Given the description of an element on the screen output the (x, y) to click on. 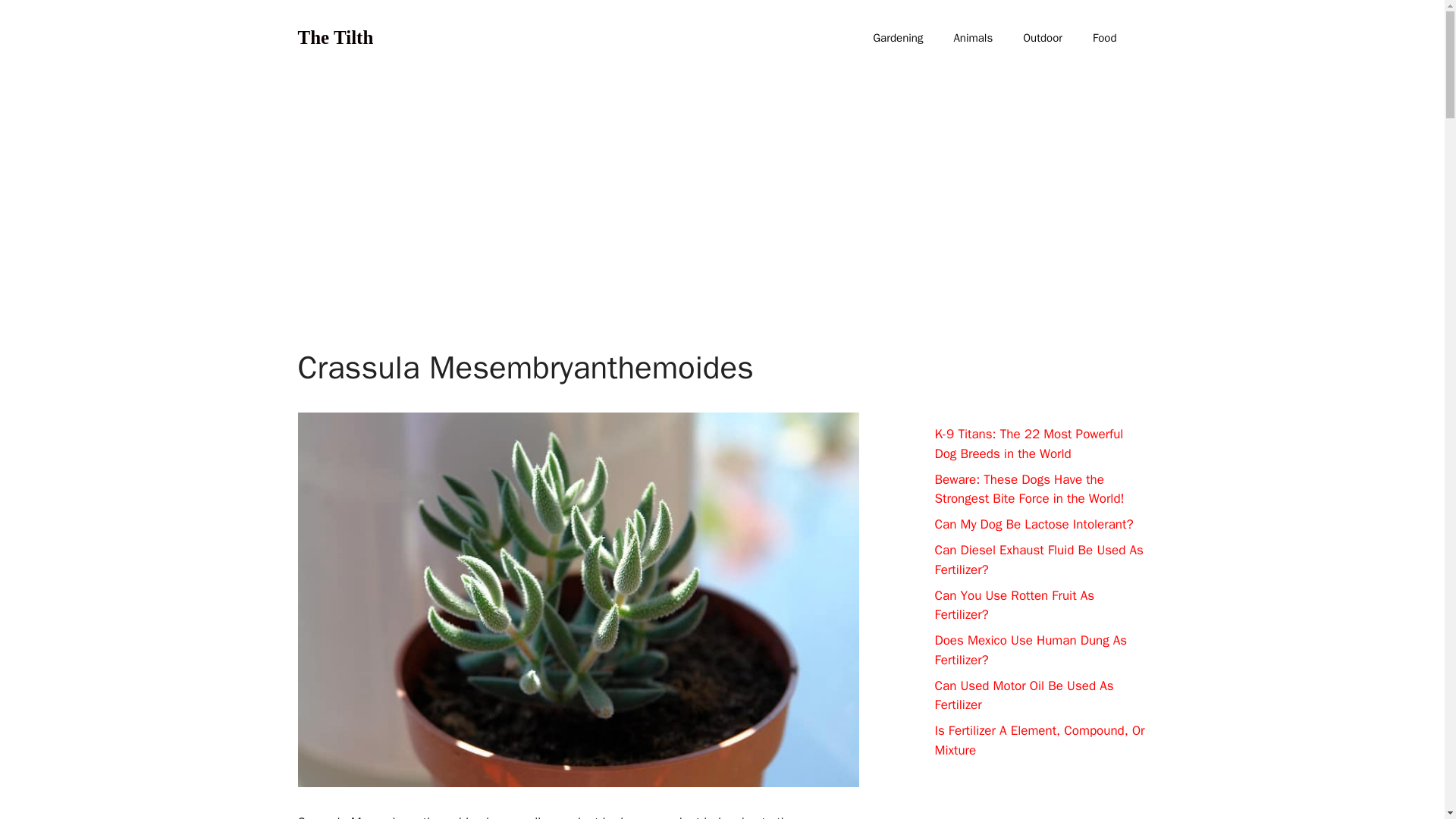
Does Mexico Use Human Dung As Fertilizer? (1030, 650)
Food (1104, 37)
The Tilth (334, 37)
Gardening (897, 37)
Outdoor (1042, 37)
Can You Use Rotten Fruit As Fertilizer? (1014, 604)
Can Diesel Exhaust Fluid Be Used As Fertilizer? (1038, 560)
Can Used Motor Oil Be Used As Fertilizer (1023, 695)
Is Fertilizer A Element, Compound, Or Mixture (1039, 740)
K-9 Titans: The 22 Most Powerful Dog Breeds in the World (1028, 443)
Can My Dog Be Lactose Intolerant? (1033, 524)
Animals (972, 37)
